Given the description of an element on the screen output the (x, y) to click on. 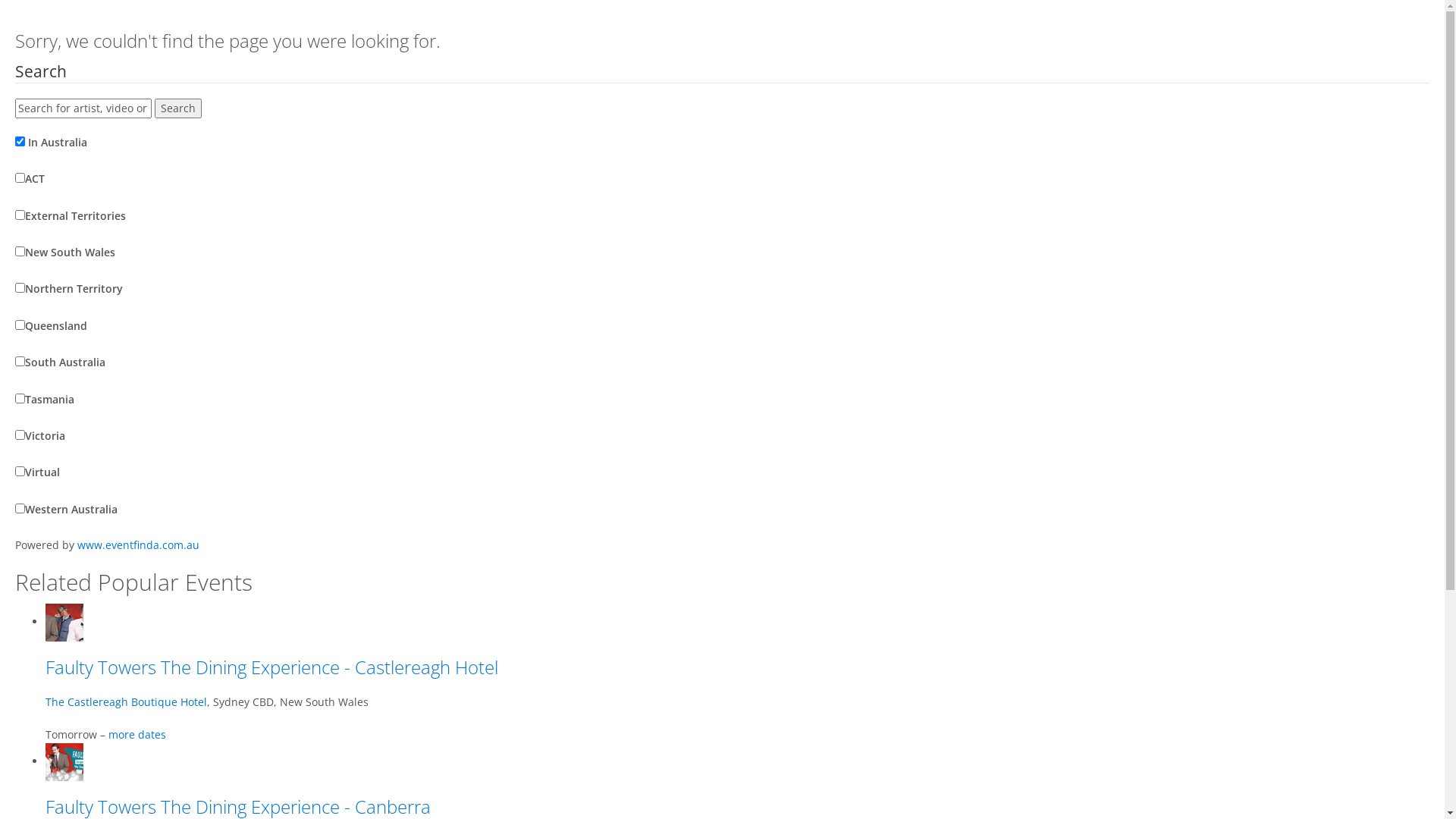
Faulty Towers The Dining Experience - Castlereagh Hotel Element type: text (271, 666)
www.eventfinda.com.au Element type: text (138, 544)
more dates Element type: text (137, 734)
The Castlereagh Boutique Hotel Element type: text (126, 701)
Search Element type: text (177, 108)
